Given the description of an element on the screen output the (x, y) to click on. 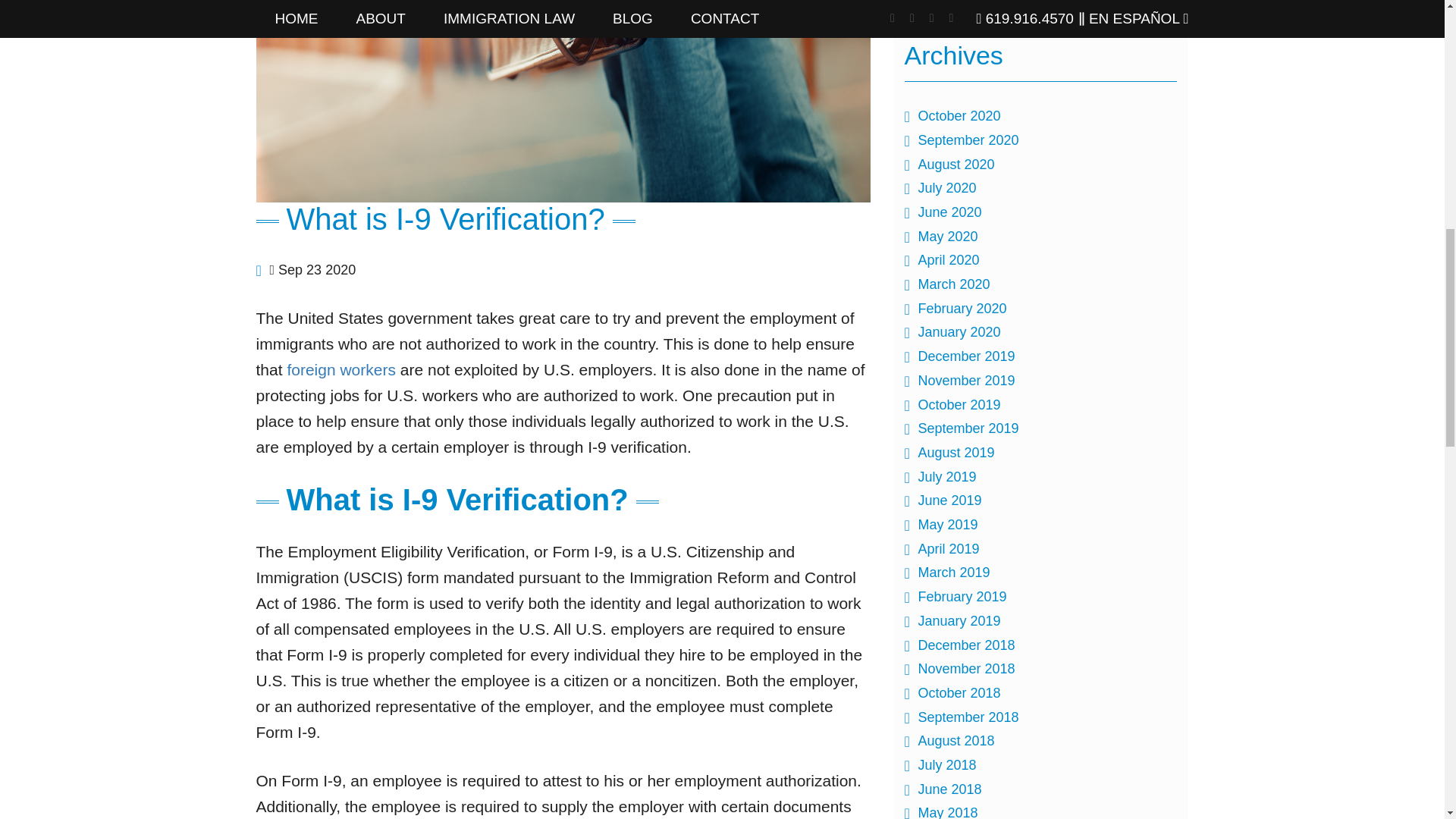
August 2020 (955, 163)
October 2020 (958, 115)
foreign workers (341, 369)
September 2020 (967, 140)
